Given the description of an element on the screen output the (x, y) to click on. 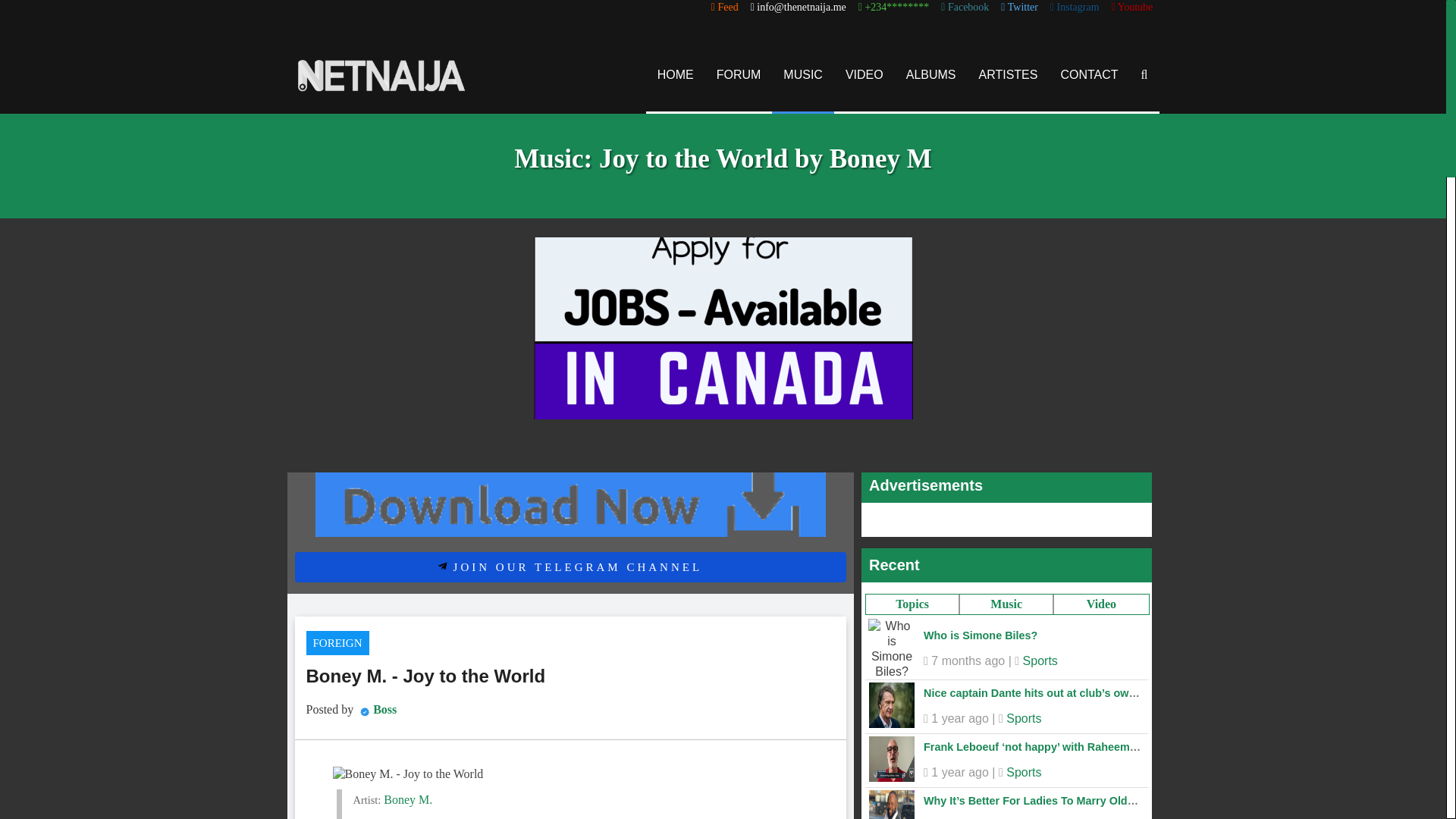
ALBUMS (931, 74)
ARTISTES (1008, 74)
Youtube (1132, 7)
FORUM (738, 74)
Twitter (1019, 7)
Facebook (964, 7)
Instagram (1074, 7)
Who is Simone Biles? (979, 635)
Feed (724, 7)
